Given the description of an element on the screen output the (x, y) to click on. 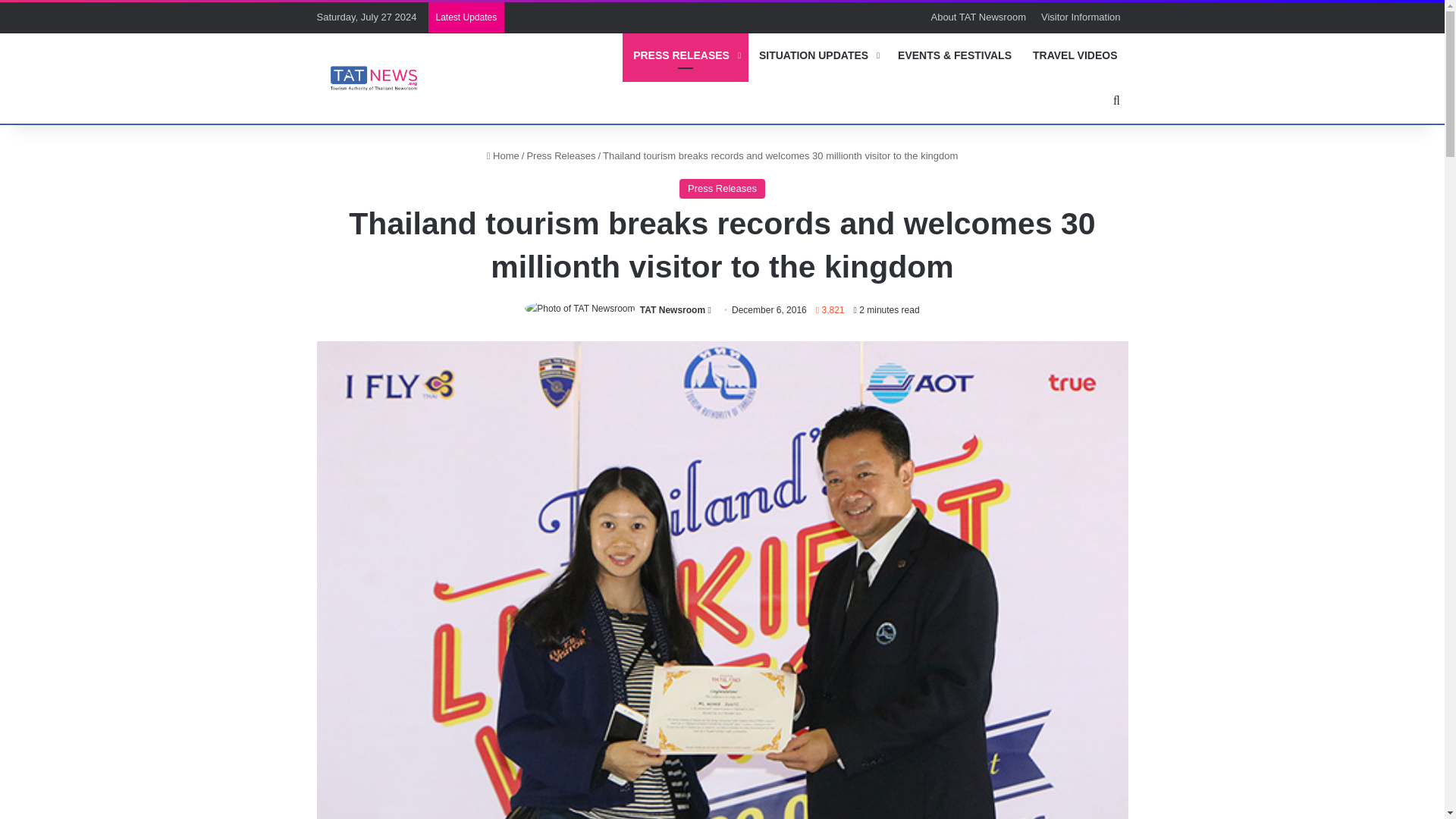
Press Releases (722, 189)
PRESS RELEASES (685, 54)
Visitor Information (1080, 17)
TRAVEL VIDEOS (1075, 54)
SITUATION UPDATES (817, 54)
TAT Newsroom (672, 309)
Press Releases (560, 155)
About TAT Newsroom (977, 17)
TAT Newsroom (373, 77)
TAT Newsroom (672, 309)
Home (502, 155)
